Given the description of an element on the screen output the (x, y) to click on. 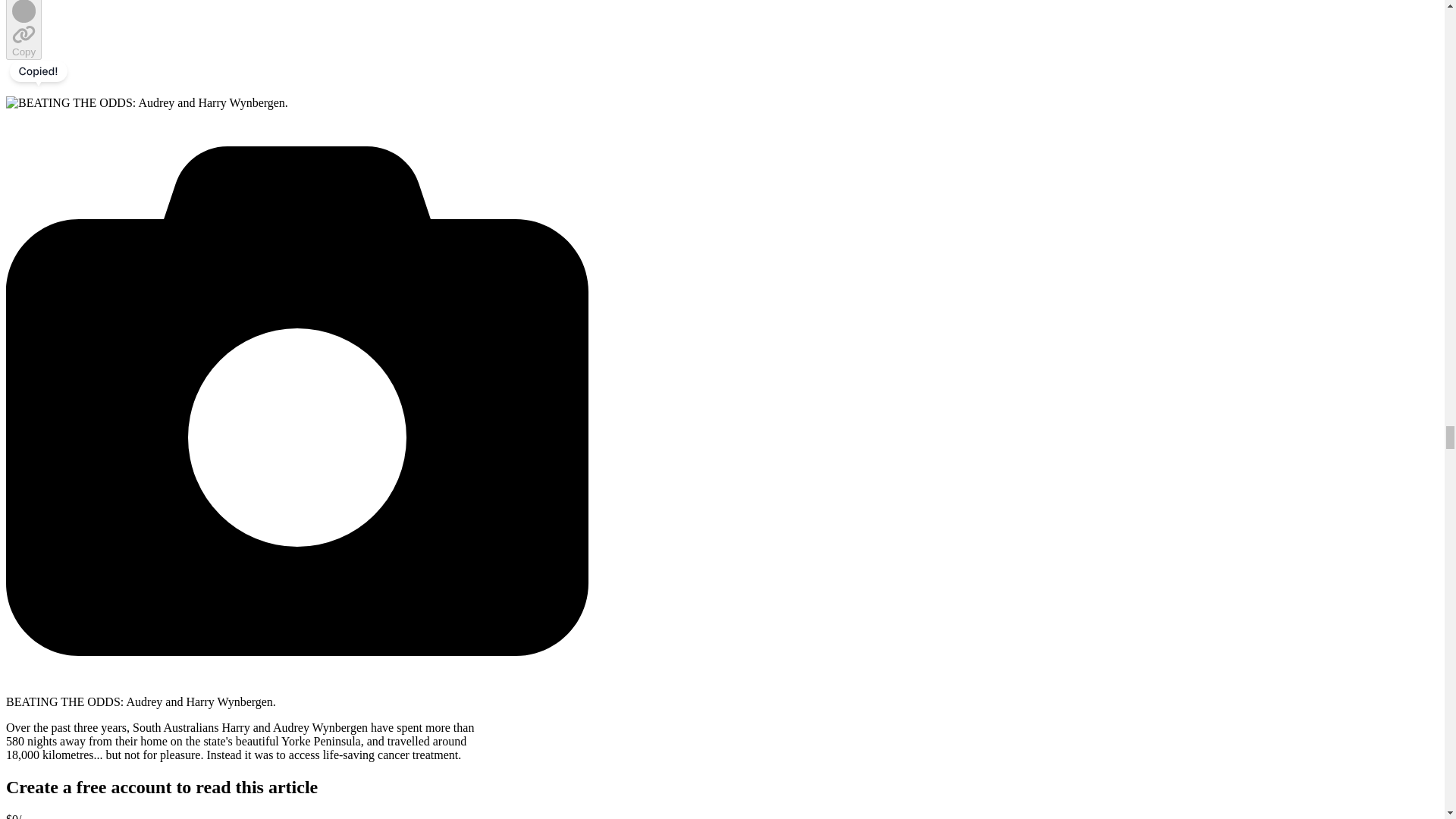
BEATING THE ODDS: Audrey and Harry Wynbergen. (146, 102)
